Given the description of an element on the screen output the (x, y) to click on. 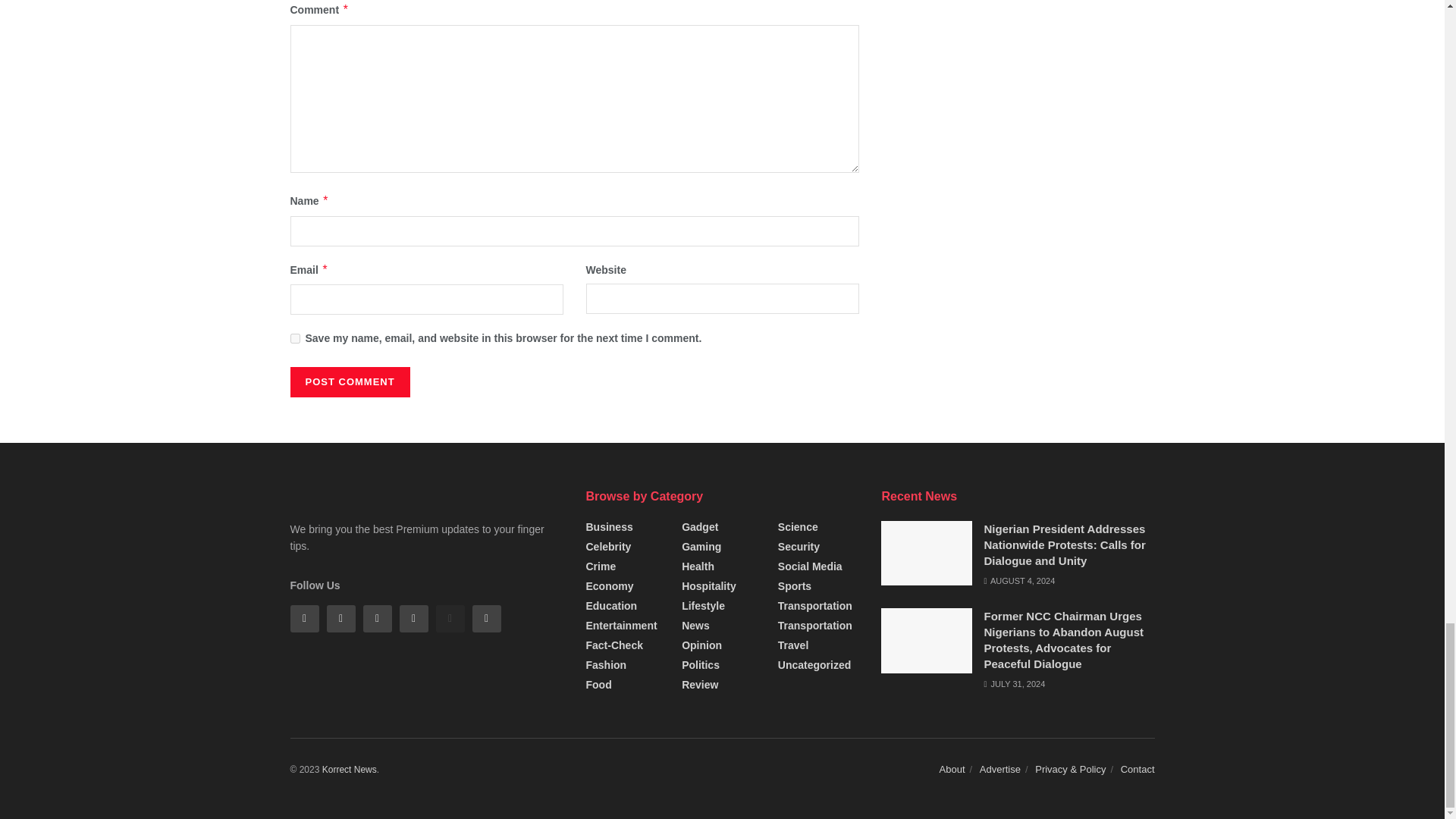
yes (294, 338)
Post Comment (349, 381)
